Given the description of an element on the screen output the (x, y) to click on. 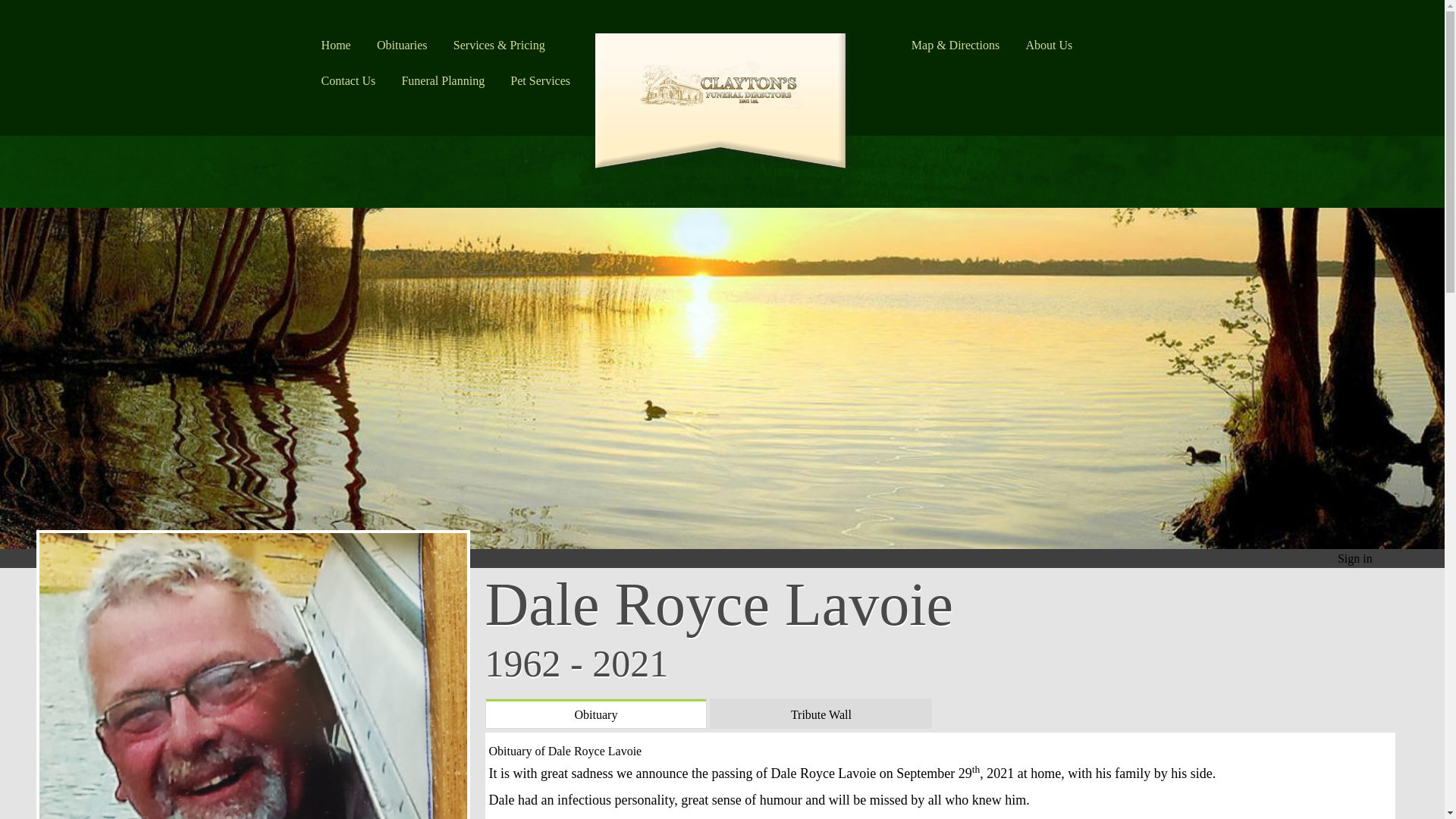
Obituaries (402, 40)
Pet Services (539, 76)
Obituary (595, 713)
Contact Us (348, 76)
Home (335, 40)
Funeral Planning (442, 76)
Tribute Wall (820, 713)
About Us (1048, 40)
Sign in (1355, 558)
